Given the description of an element on the screen output the (x, y) to click on. 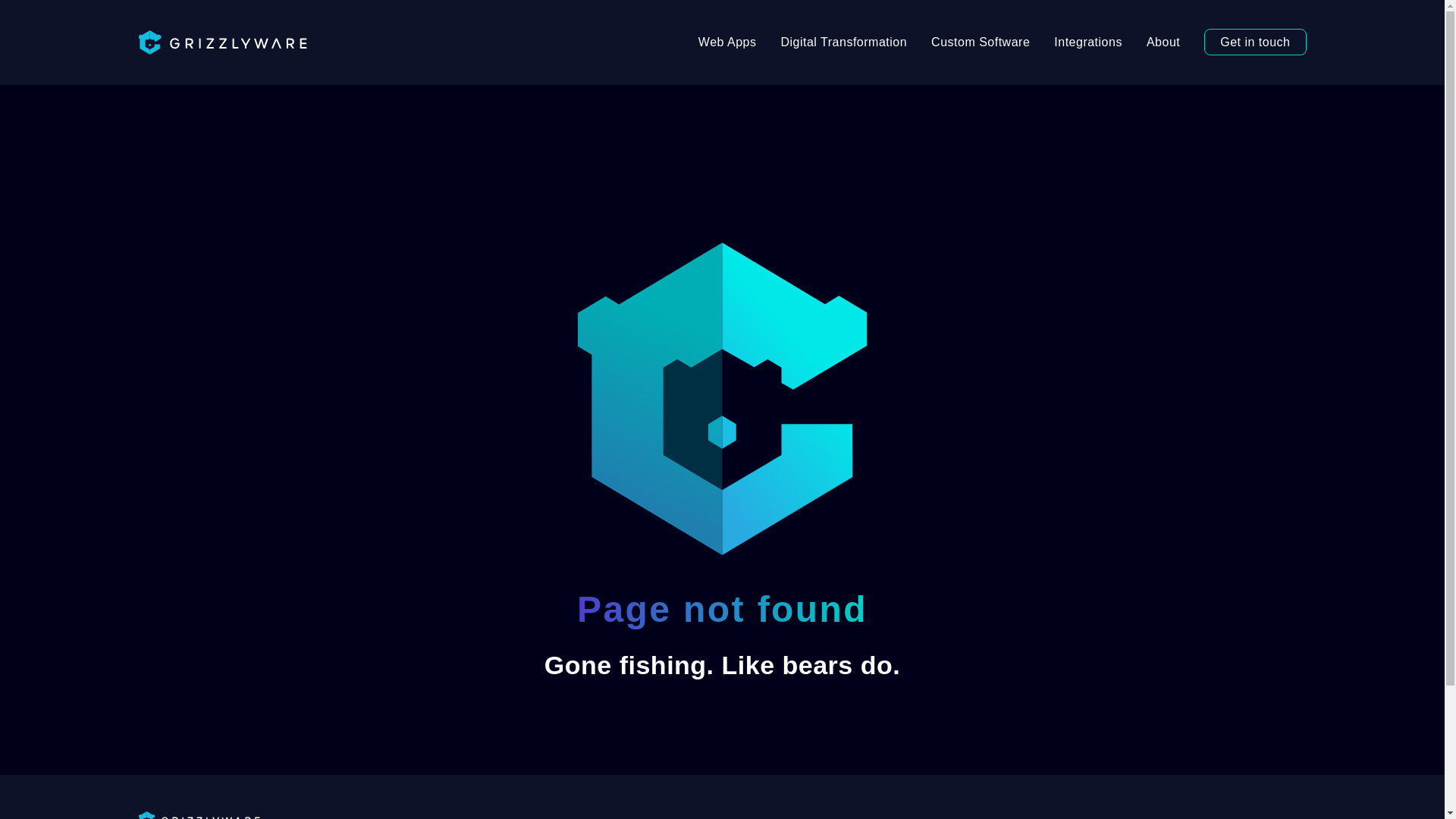
About (1163, 41)
Digital Transformation (843, 41)
Get in touch (1255, 41)
Integrations (1088, 41)
Web Apps (726, 41)
Custom Software (980, 41)
